Given the description of an element on the screen output the (x, y) to click on. 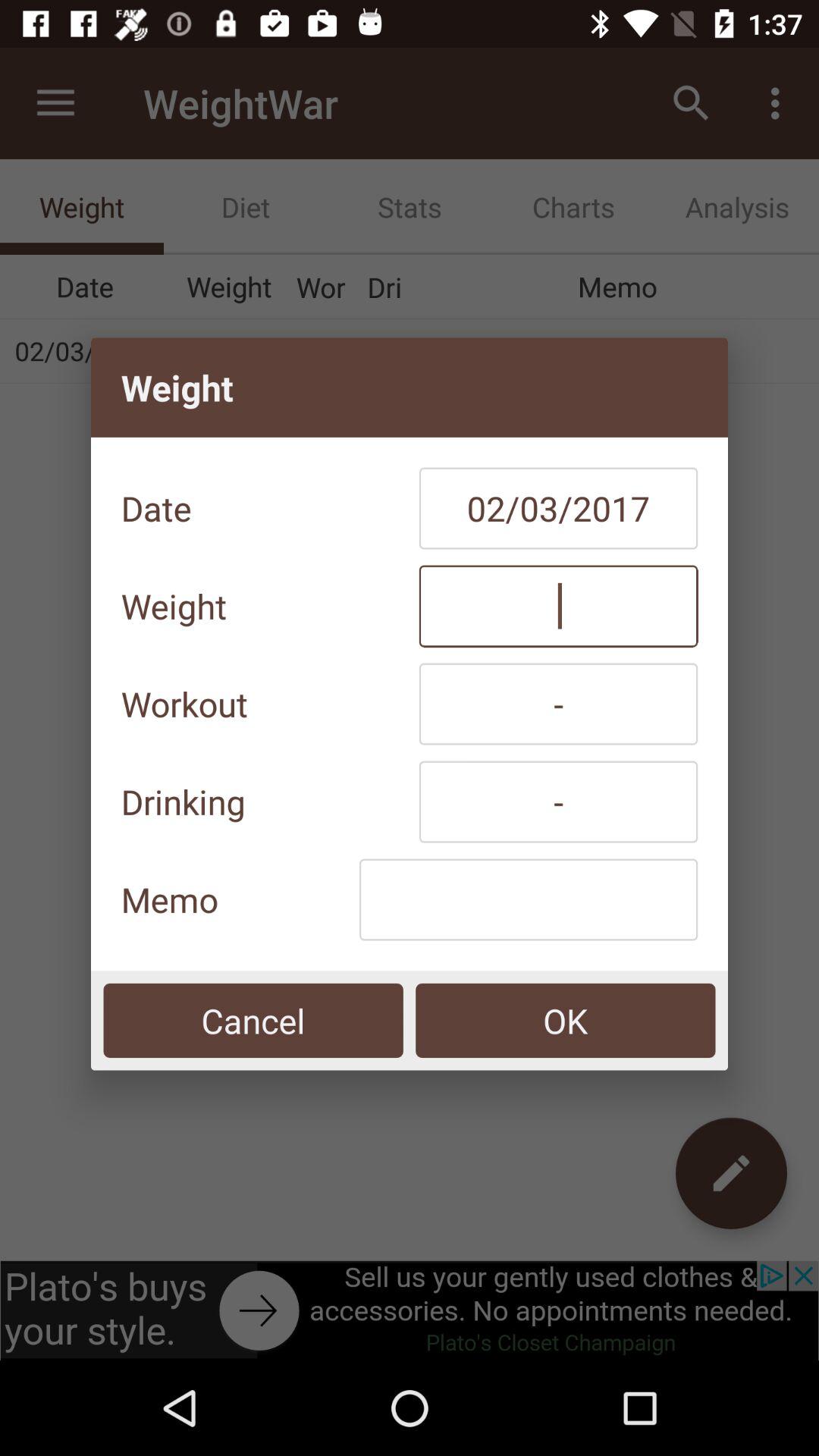
click the item above workout (558, 606)
